Given the description of an element on the screen output the (x, y) to click on. 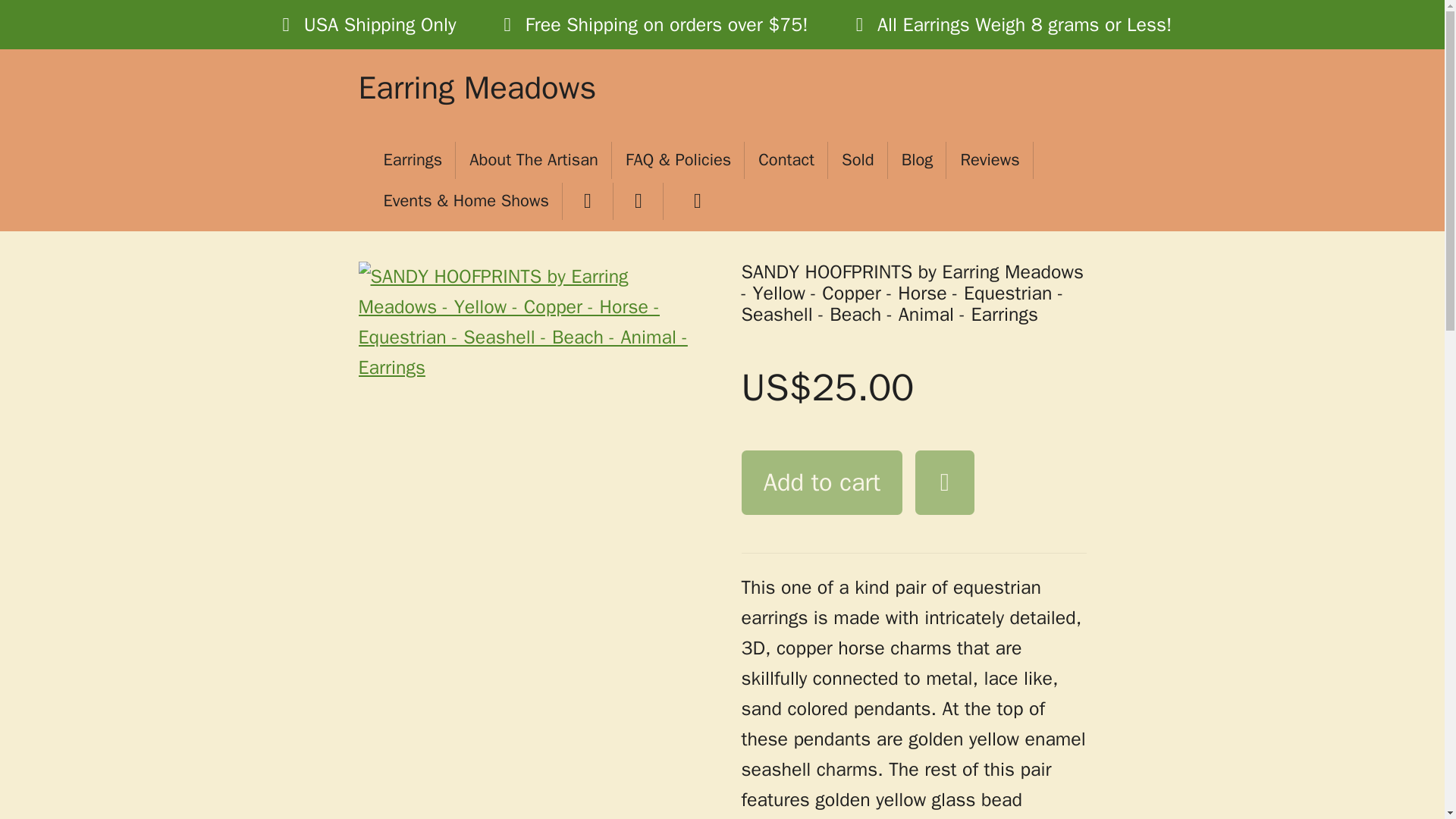
Add to cart (821, 482)
Earrings (413, 160)
Earring Meadows (476, 89)
Cart (692, 201)
Blog (917, 160)
Account (587, 201)
Add to wishlist (944, 482)
About The Artisan (533, 160)
Search (637, 201)
Reviews (989, 160)
